Given the description of an element on the screen output the (x, y) to click on. 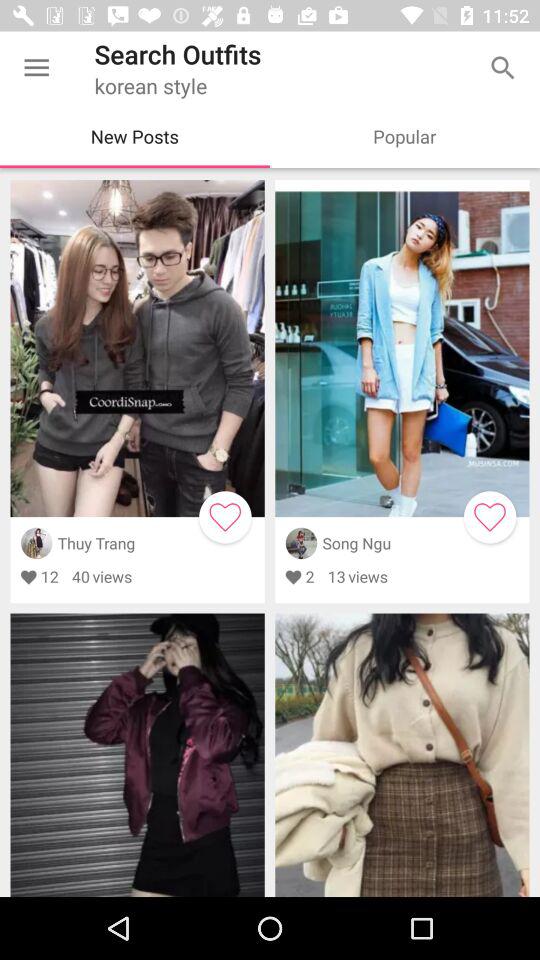
choose the item next to the search outfits item (36, 68)
